Given the description of an element on the screen output the (x, y) to click on. 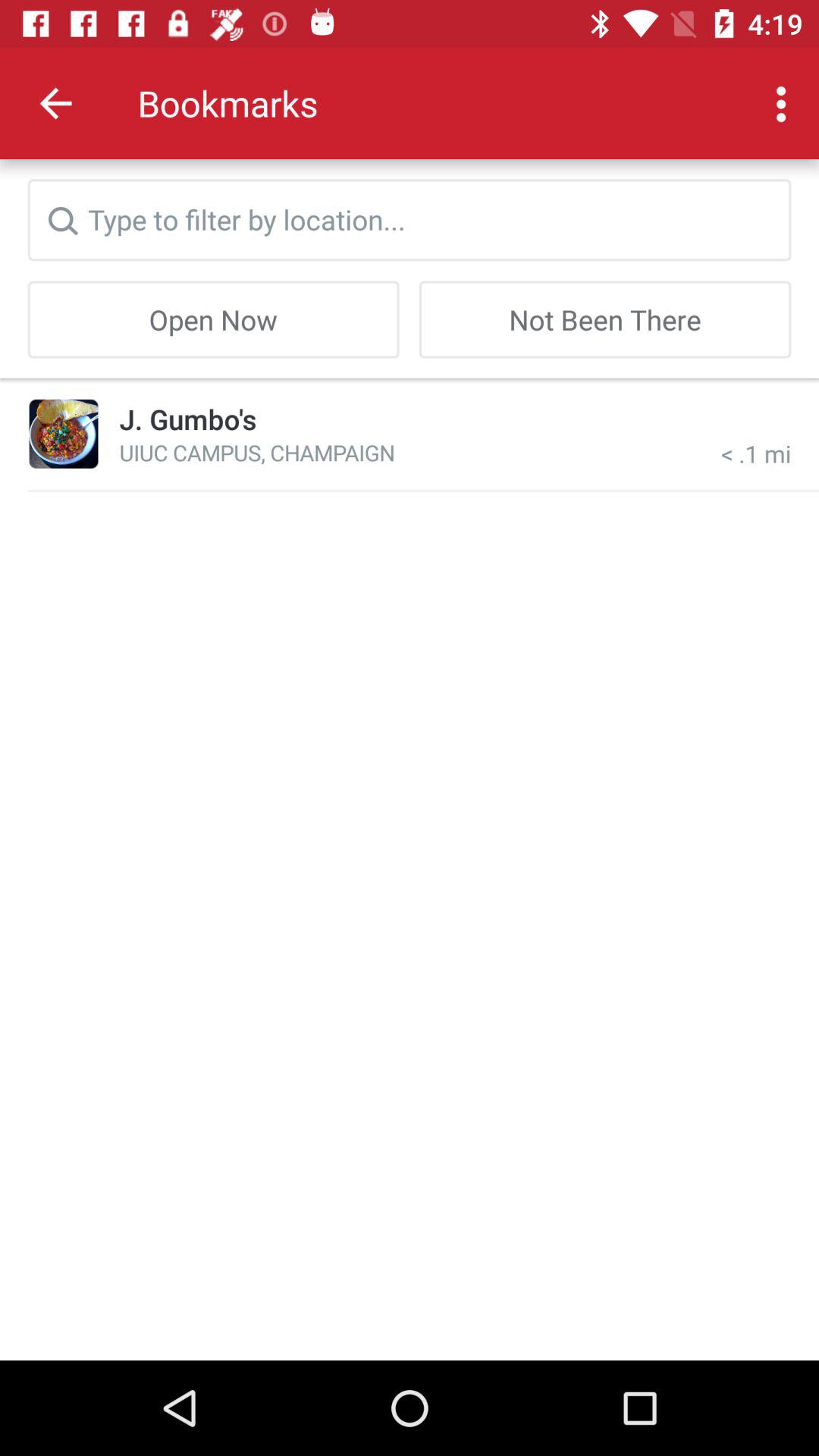
turn off item below the open now icon (187, 418)
